Given the description of an element on the screen output the (x, y) to click on. 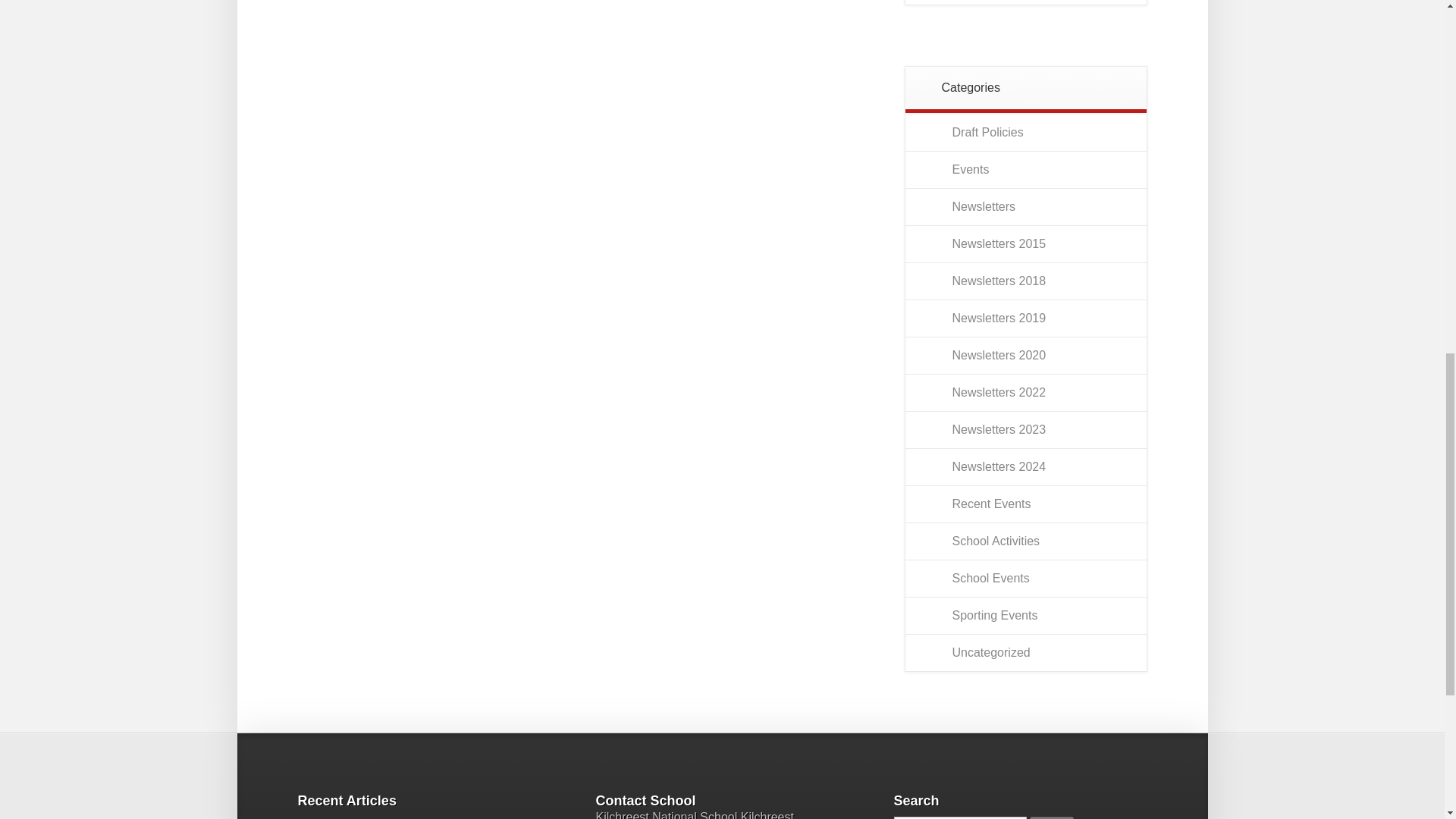
Search (1051, 817)
